Given the description of an element on the screen output the (x, y) to click on. 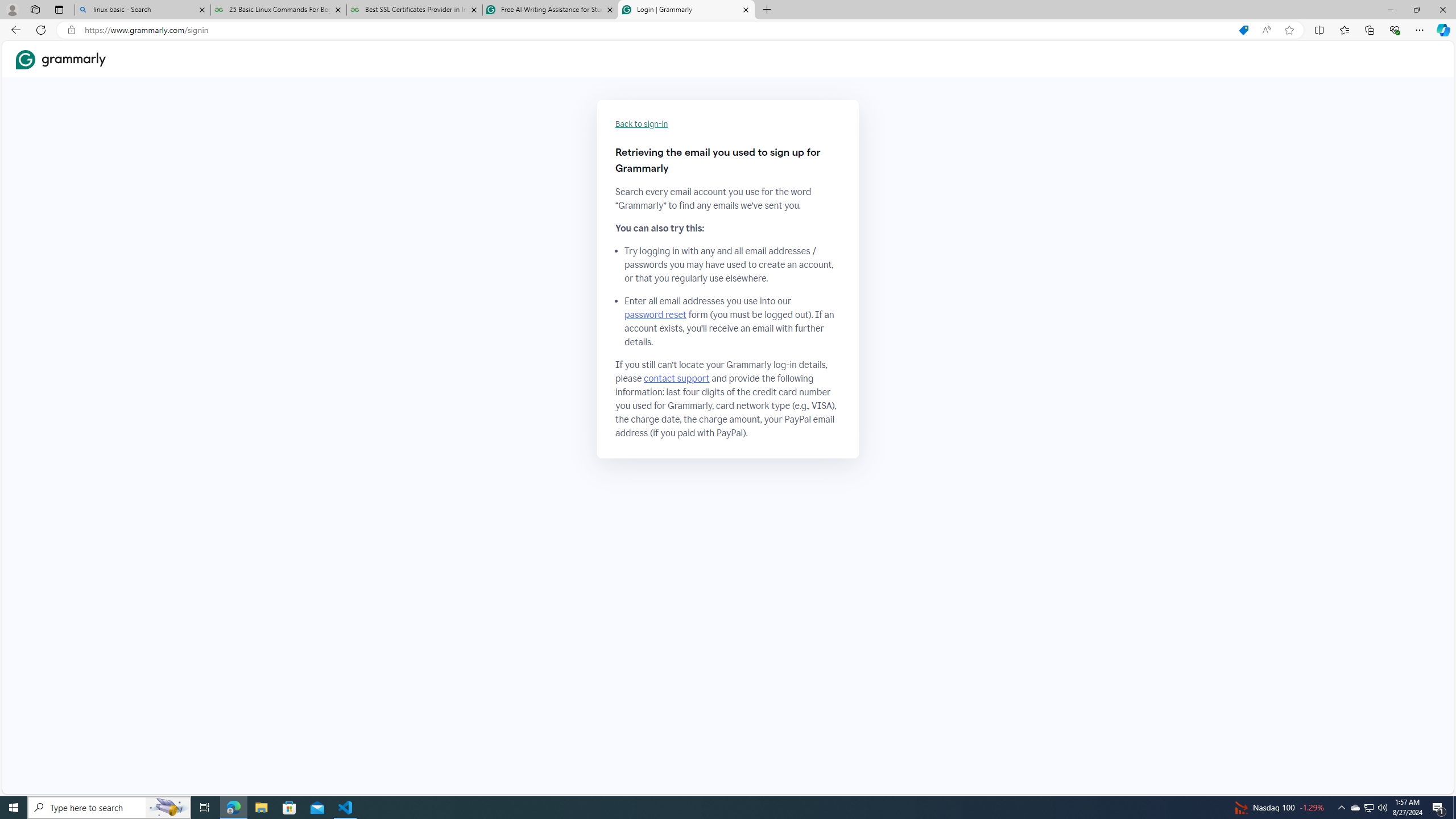
linux basic - Search (142, 9)
Login | Grammarly (685, 9)
